Given the description of an element on the screen output the (x, y) to click on. 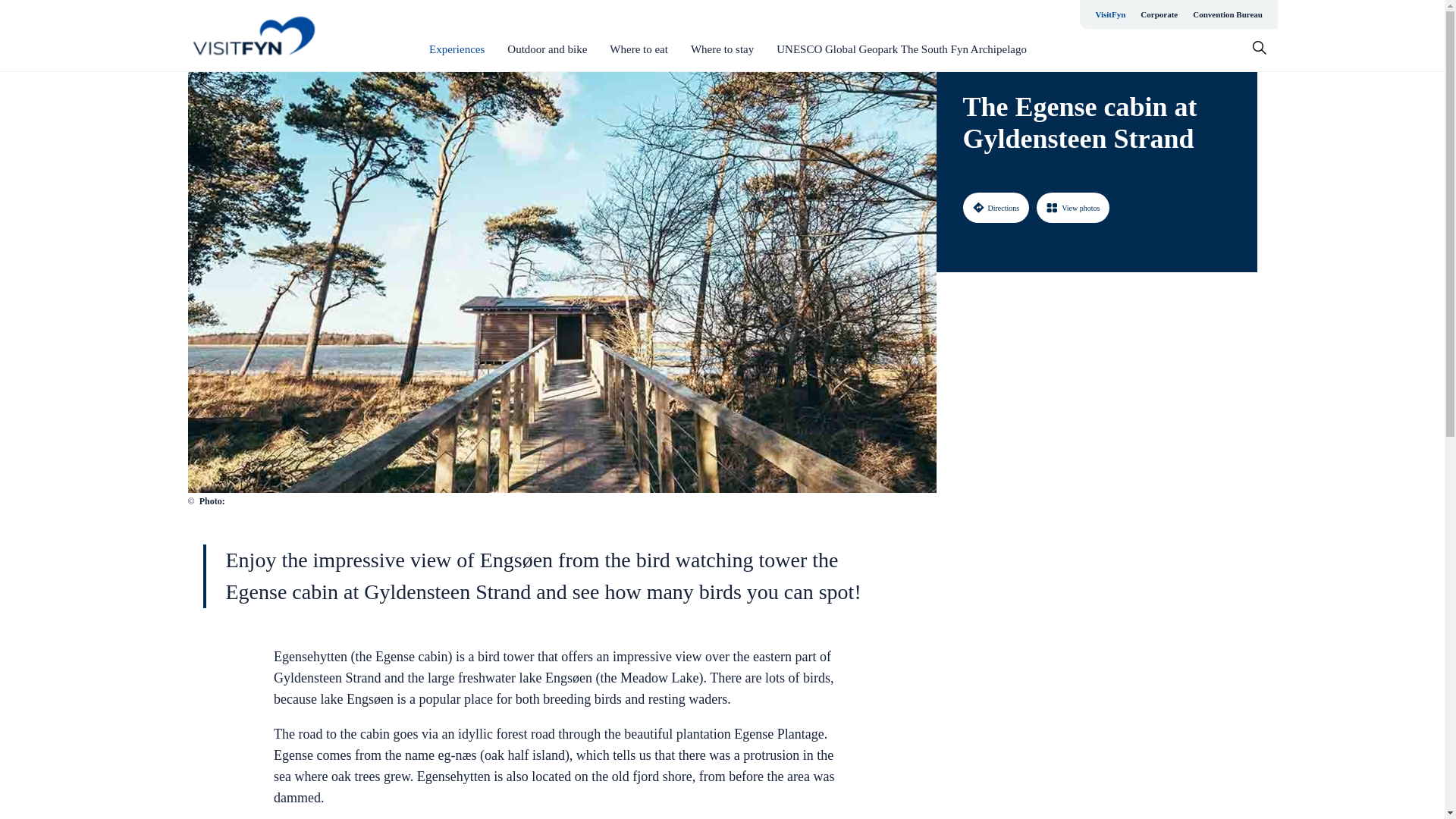
Directions (995, 207)
Convention Bureau (1227, 14)
Outdoor and bike (546, 49)
Where to stay (722, 49)
UNESCO Global Geopark The South Fyn Archipelago (901, 49)
View photos (1072, 207)
Go to homepage (253, 35)
Where to eat (639, 49)
Experiences (456, 49)
Corporate (1158, 14)
